Given the description of an element on the screen output the (x, y) to click on. 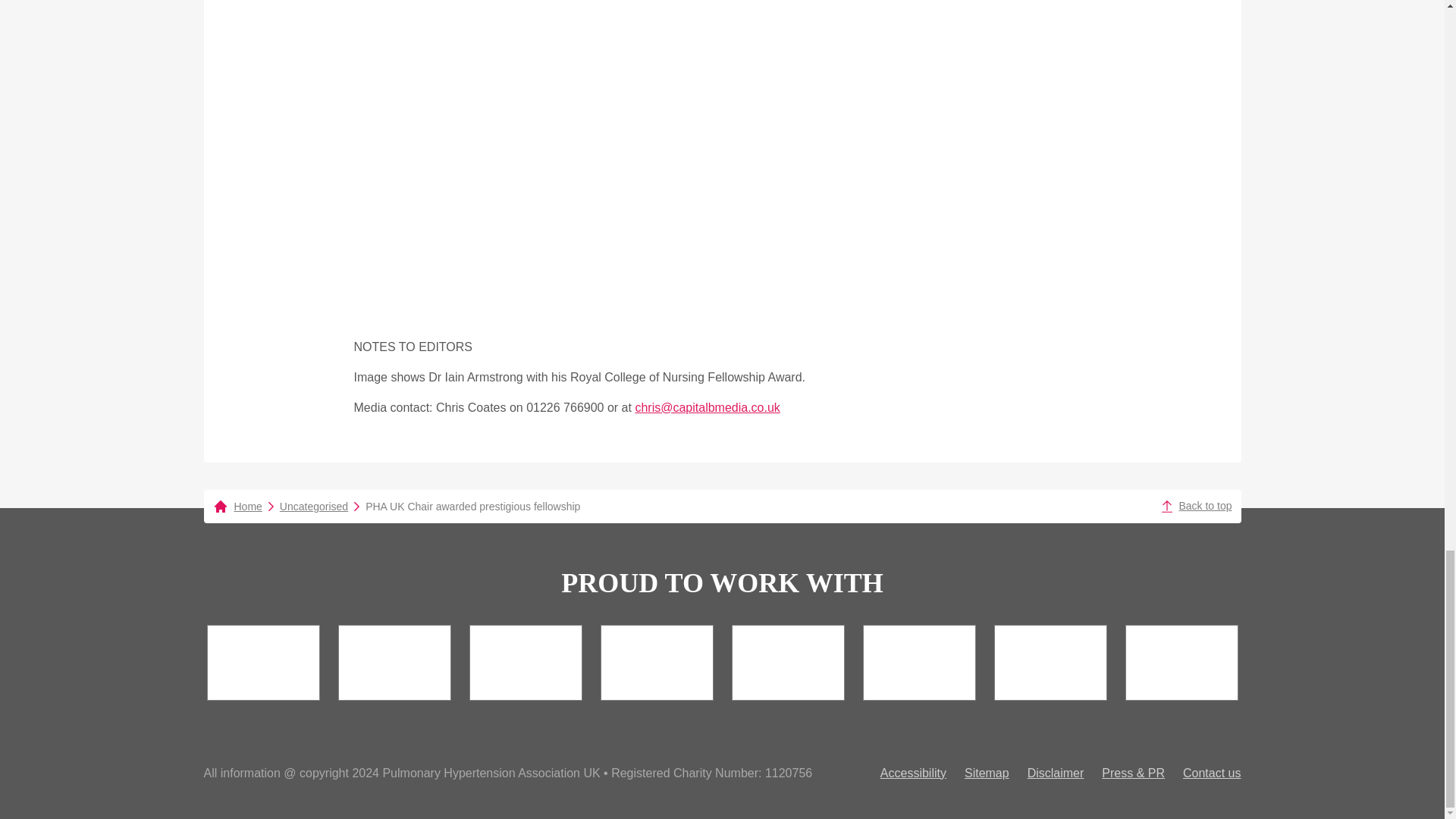
NHS Blood and Transplant (394, 662)
Genetic Alliance UK (262, 662)
Patient Information Forum (524, 662)
Specialised Healthcare Alliance (656, 662)
PH Professionals (787, 662)
